Given the description of an element on the screen output the (x, y) to click on. 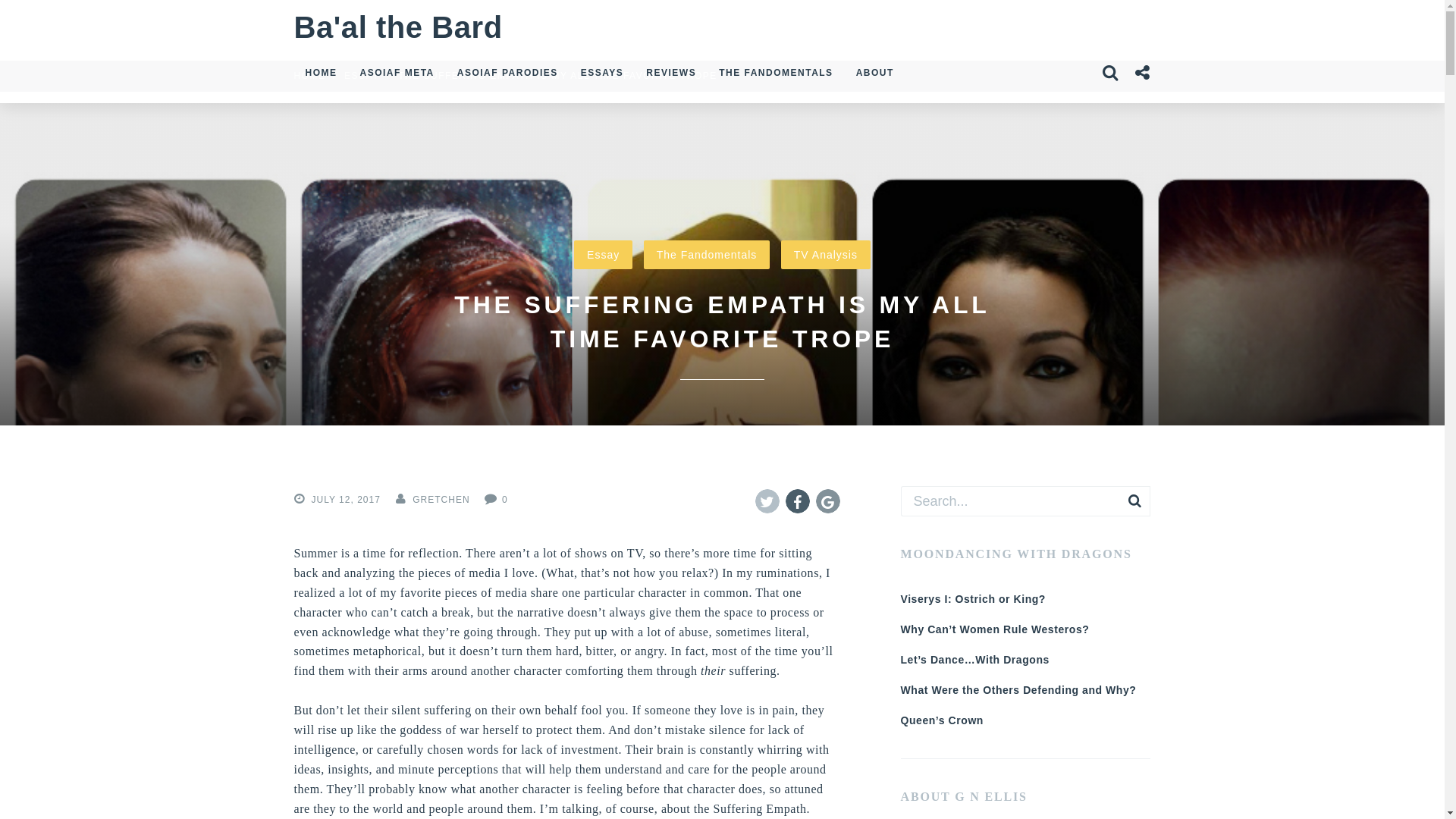
Ba'al the Bard (398, 28)
ESSAYS (601, 72)
ASOIAF PARODIES (507, 72)
ABOUT (874, 72)
REVIEWS (670, 72)
THE FANDOMENTALS (775, 72)
HOME (310, 75)
ASOIAF META (397, 72)
HOME (321, 72)
ESSAY (361, 75)
